Given the description of an element on the screen output the (x, y) to click on. 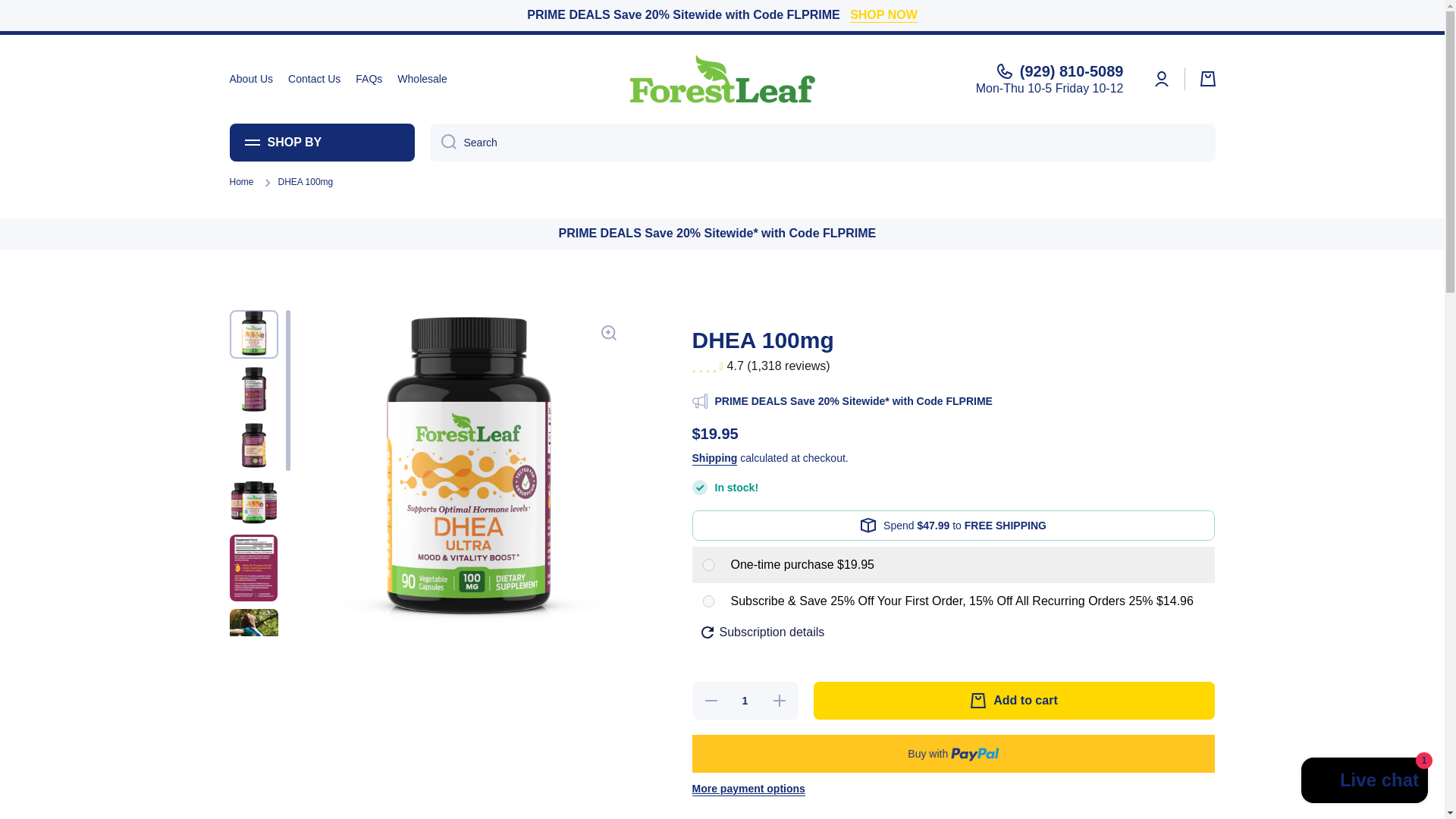
subscription (707, 601)
onetime (707, 564)
Shopify online store chat (1364, 781)
1 (744, 700)
